Given the description of an element on the screen output the (x, y) to click on. 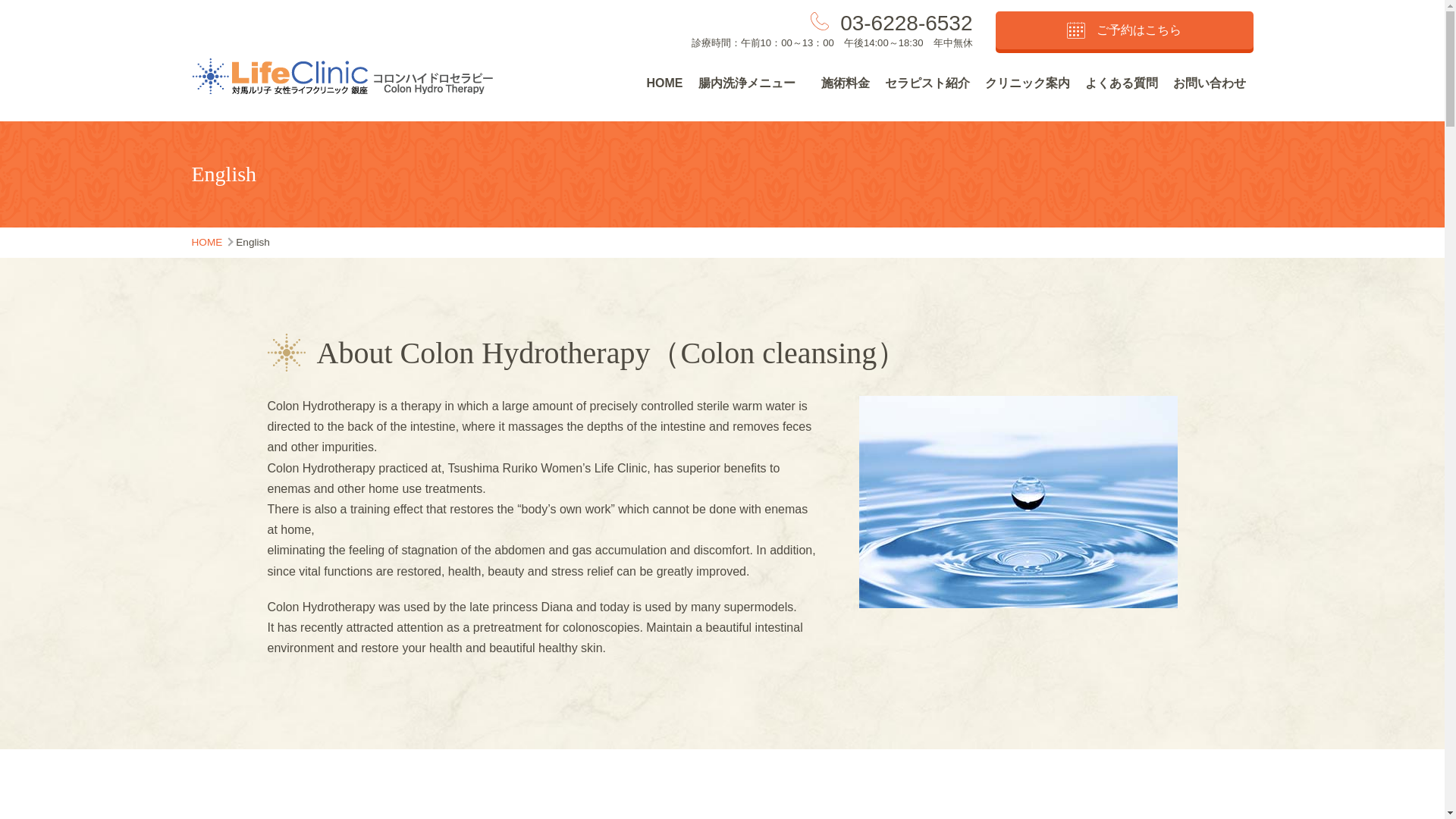
English (252, 242)
03-6228-6532 (906, 23)
HOME (664, 83)
HOME (206, 242)
